Given the description of an element on the screen output the (x, y) to click on. 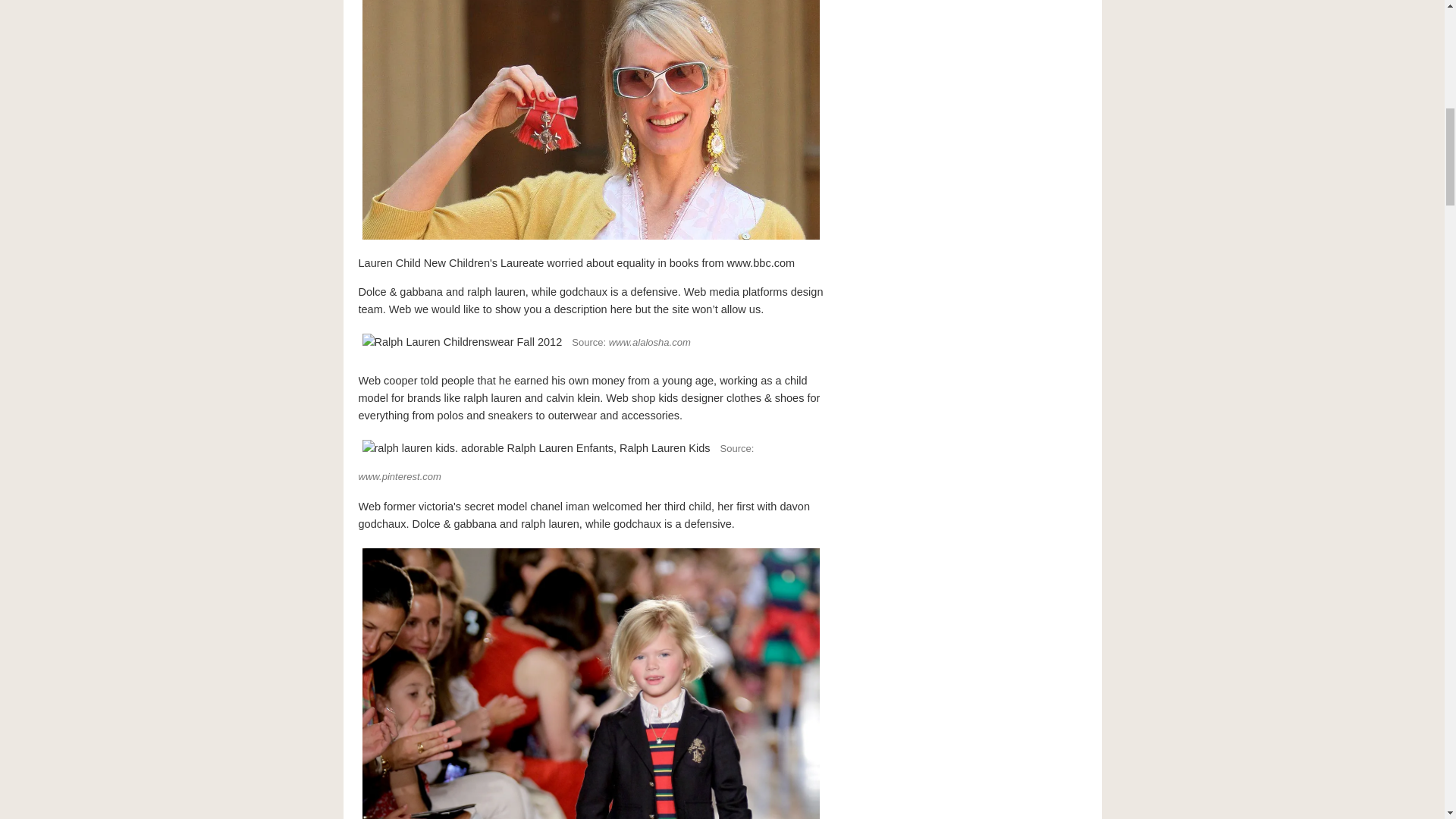
Cool Child Model Ralph Lauren References 4 (535, 448)
Cool Child Model Ralph Lauren References 5 (590, 681)
Cool Child Model Ralph Lauren References 3 (462, 342)
Cool Child Model Ralph Lauren References 2 (590, 121)
